Given the description of an element on the screen output the (x, y) to click on. 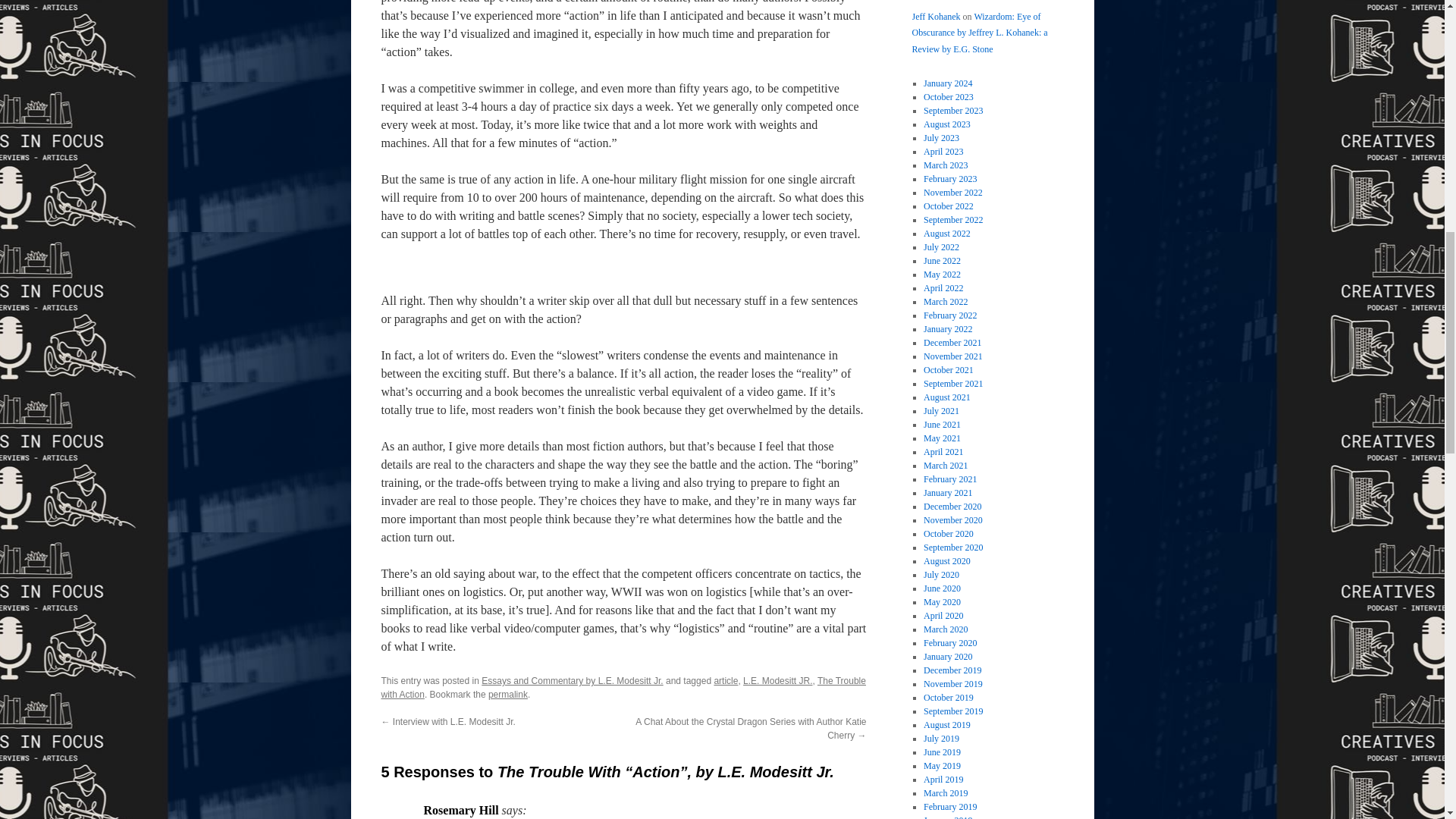
Essays and Commentary by L.E. Modesitt Jr. (571, 680)
L.E. Modesitt JR. (777, 680)
The Trouble with Action (622, 687)
permalink (507, 694)
article (725, 680)
